Given the description of an element on the screen output the (x, y) to click on. 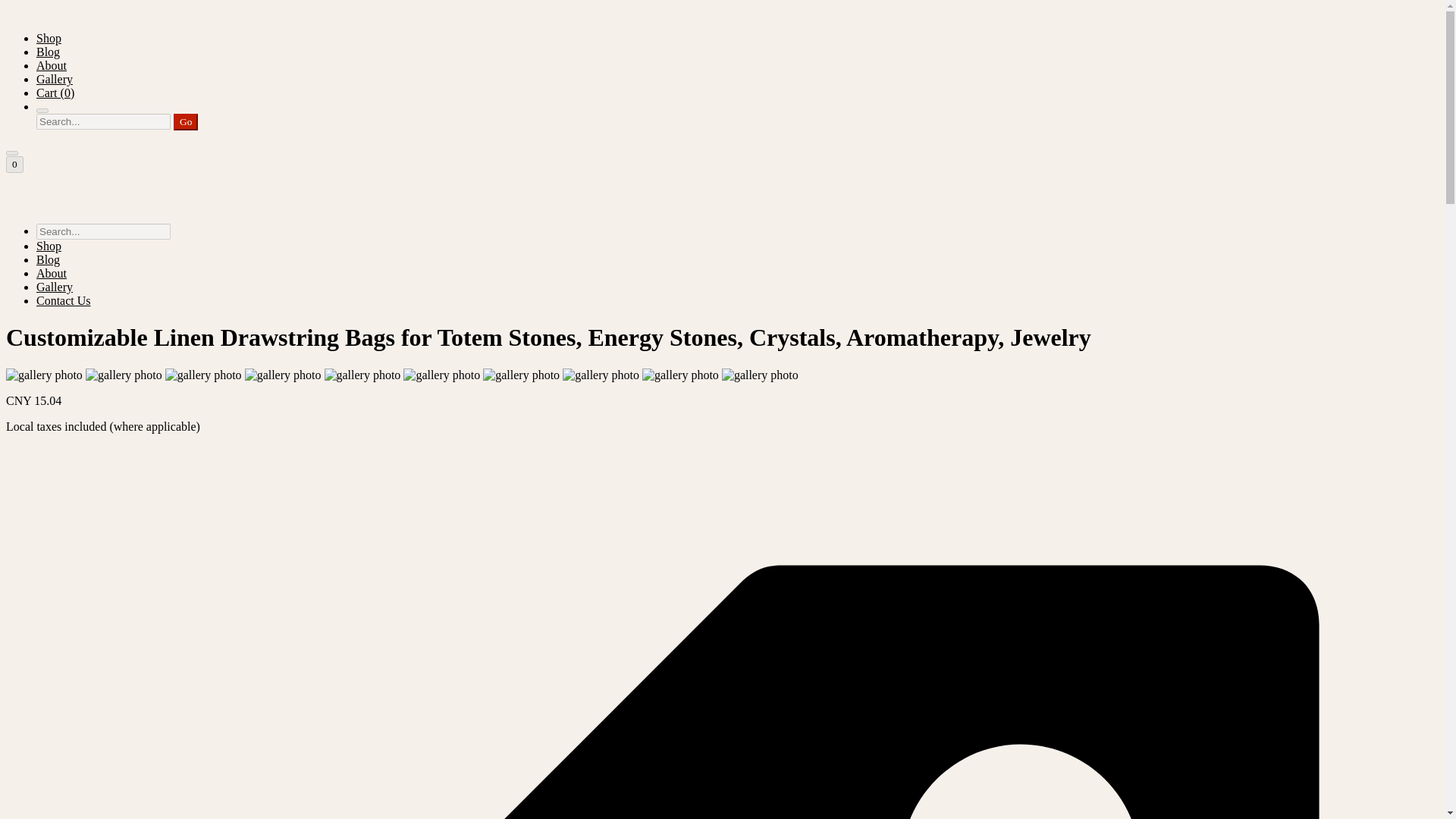
About (51, 65)
Shop (48, 38)
Shop (48, 245)
Go (185, 121)
About (51, 273)
Contact Us (63, 300)
0 (14, 164)
Gallery (54, 78)
Blog (47, 259)
Blog (47, 51)
Gallery (54, 286)
Go (185, 121)
